Given the description of an element on the screen output the (x, y) to click on. 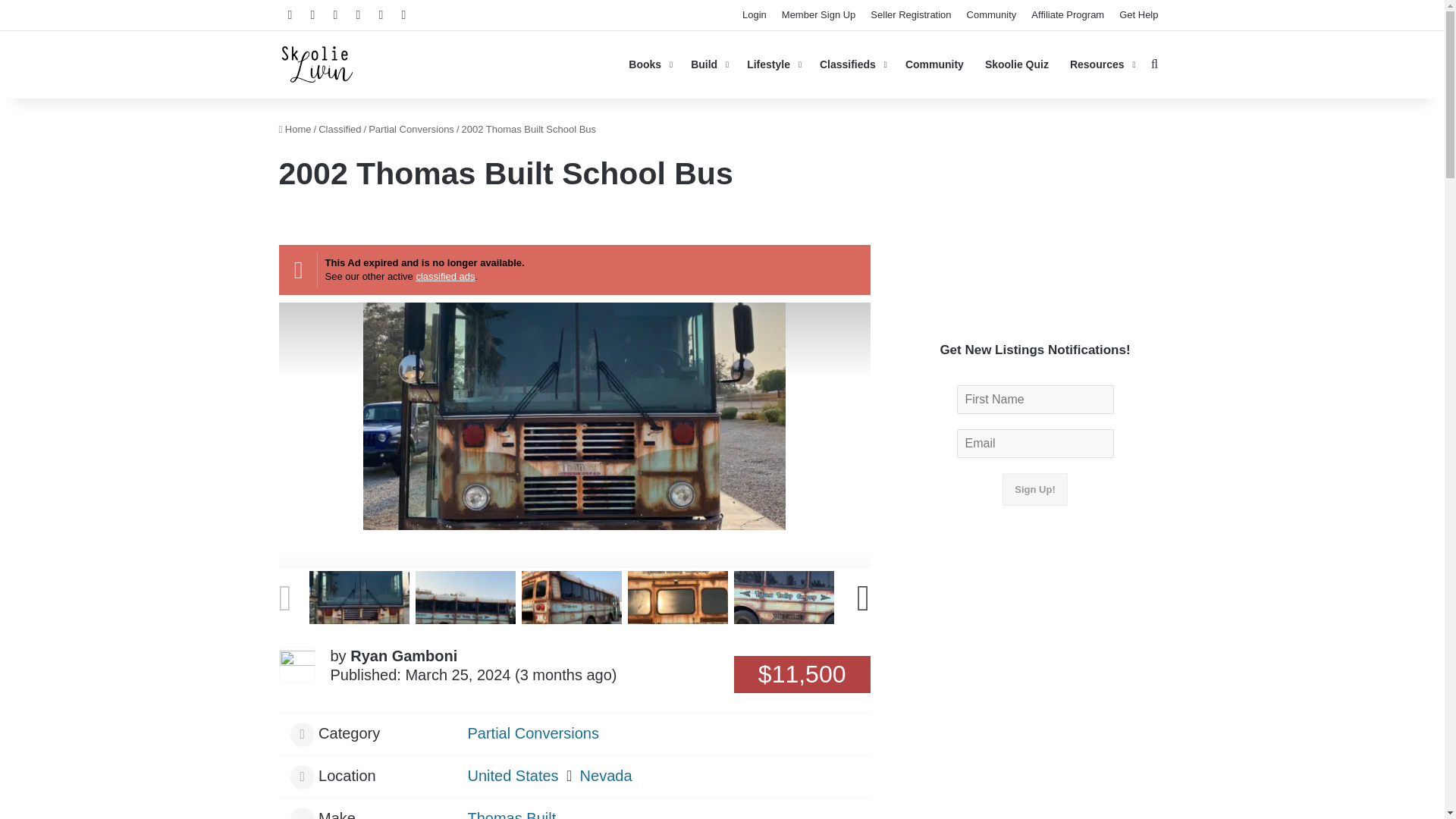
Login (754, 15)
Seller Registration (910, 15)
Member Sign Up (818, 15)
Books (648, 64)
Affiliate Program (1067, 15)
Get Help (1139, 15)
Community (992, 15)
